Given the description of an element on the screen output the (x, y) to click on. 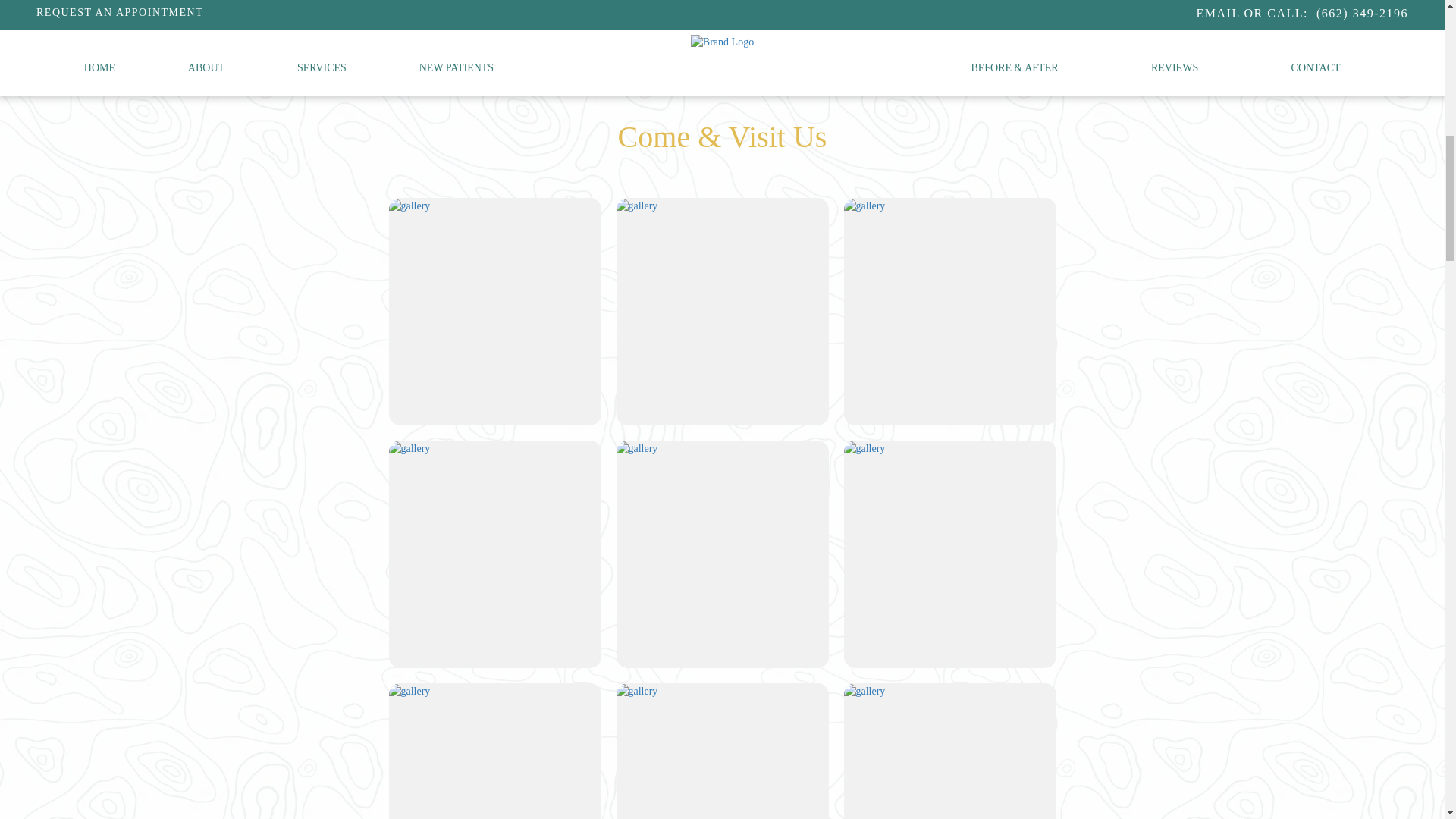
gallery (636, 448)
gallery (408, 206)
gallery (636, 691)
gallery (408, 691)
gallery (864, 691)
gallery (864, 206)
gallery (864, 448)
gallery (636, 206)
gallery (408, 448)
